Given the description of an element on the screen output the (x, y) to click on. 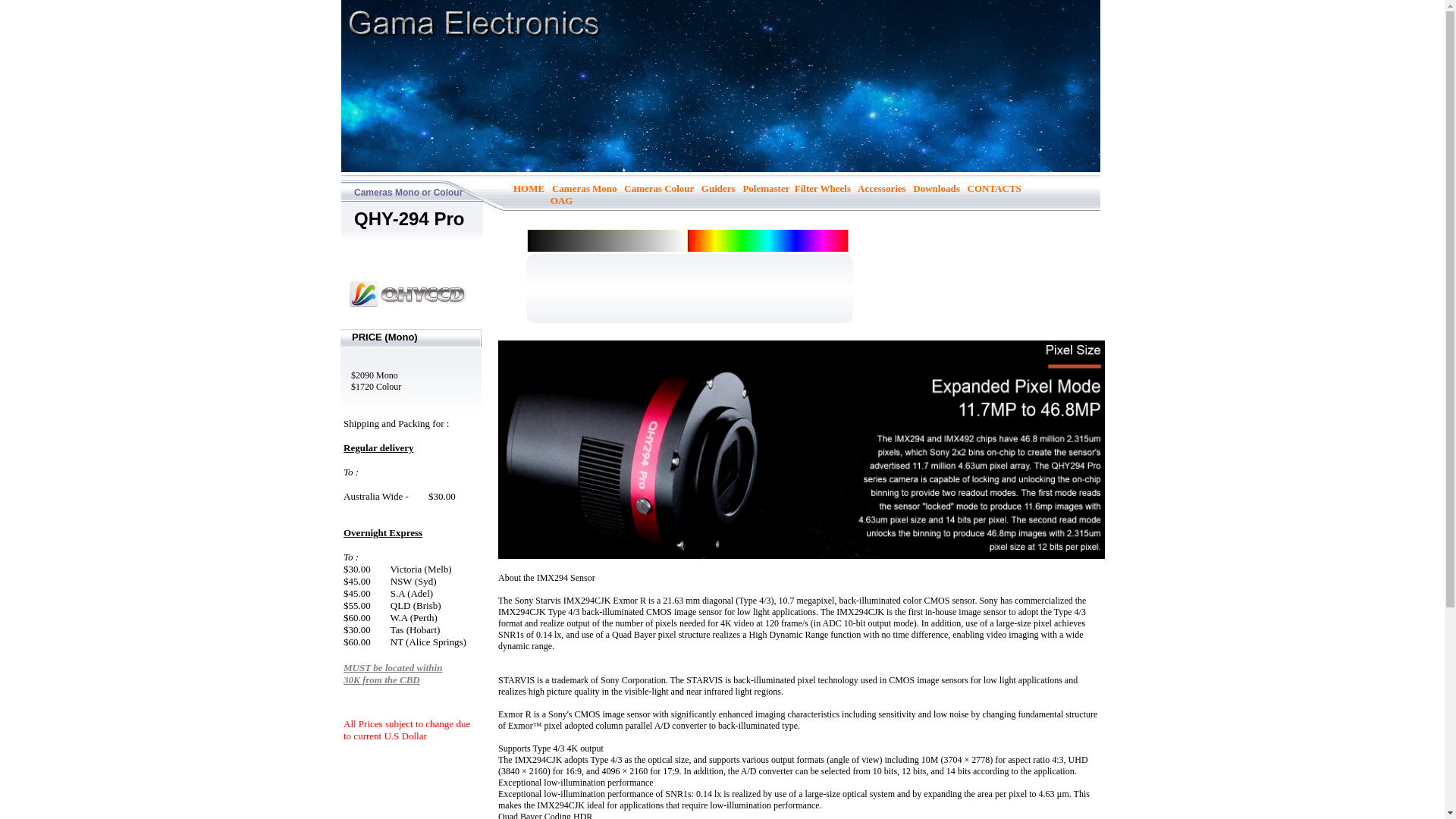
Cameras Colour Element type: text (658, 188)
Filter Wheels Element type: text (822, 188)
Cameras Mono Element type: text (584, 188)
CONTACTS Element type: text (994, 188)
Polemaster Element type: text (765, 188)
HOME Element type: text (528, 188)
Accessories Element type: text (881, 188)
OAG Element type: text (561, 200)
Guiders Element type: text (718, 188)
Downloads Element type: text (936, 188)
